Given the description of an element on the screen output the (x, y) to click on. 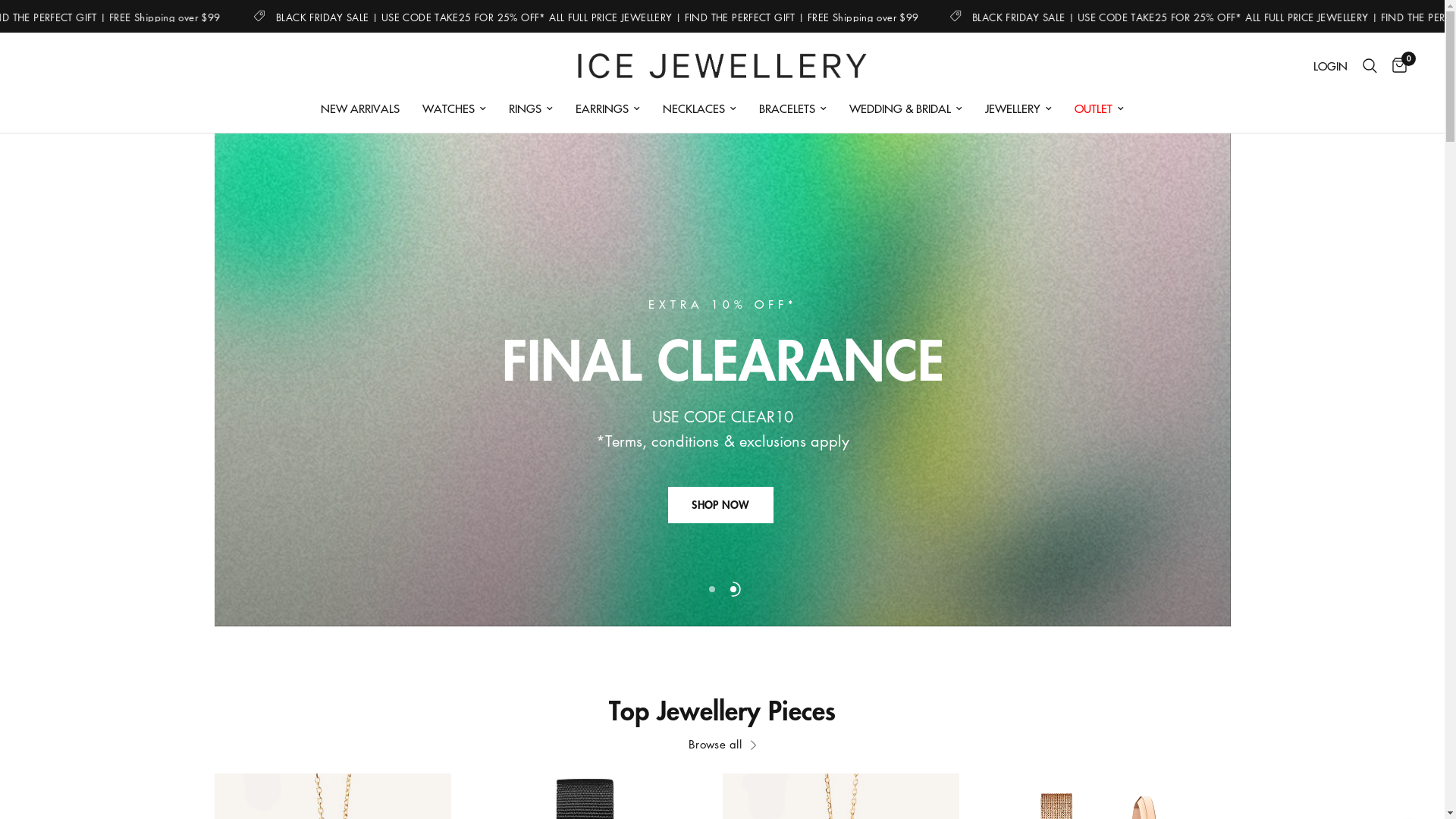
WEDDING & BRIDAL Element type: text (905, 108)
NECKLACES Element type: text (699, 108)
LOGIN Element type: text (1330, 65)
JEWELLERY Element type: text (1018, 108)
RINGS Element type: text (530, 108)
EARRINGS Element type: text (607, 108)
0 Element type: text (1395, 65)
Search Element type: hover (1369, 65)
NEW ARRIVALS Element type: text (359, 108)
SHOP NOW Element type: text (720, 536)
OUTLET Element type: text (1098, 108)
Browse all Element type: text (722, 743)
SHOP NOW Element type: text (720, 504)
BRACELETS Element type: text (792, 108)
WATCHES Element type: text (454, 108)
